Given the description of an element on the screen output the (x, y) to click on. 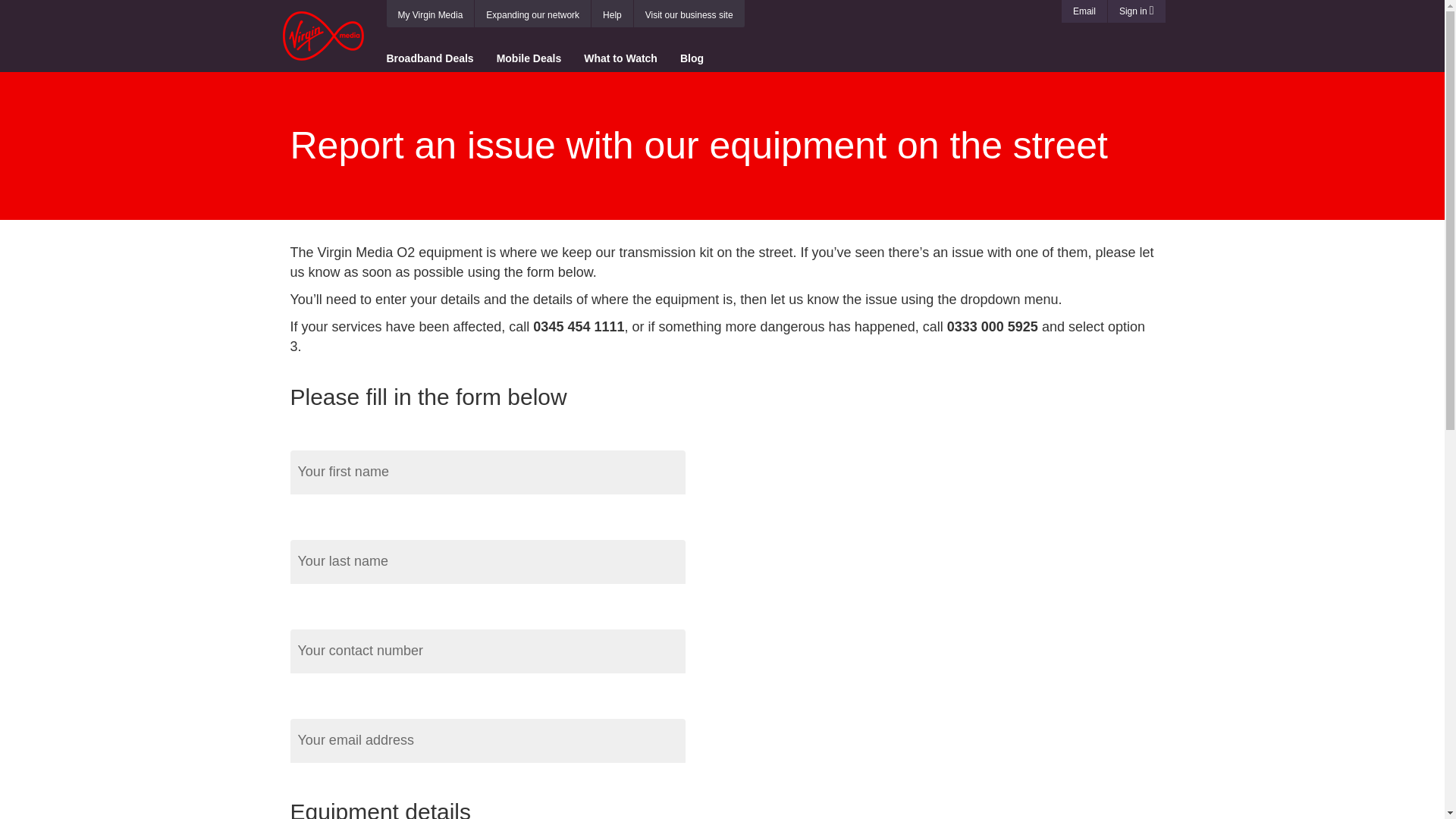
Broadband Deals (435, 56)
Visit our business site (689, 14)
Email (1083, 11)
Expanding our network (532, 14)
Help (611, 14)
Mobile Deals (528, 56)
Sign in (1137, 11)
My Virgin Media (430, 14)
